Given the description of an element on the screen output the (x, y) to click on. 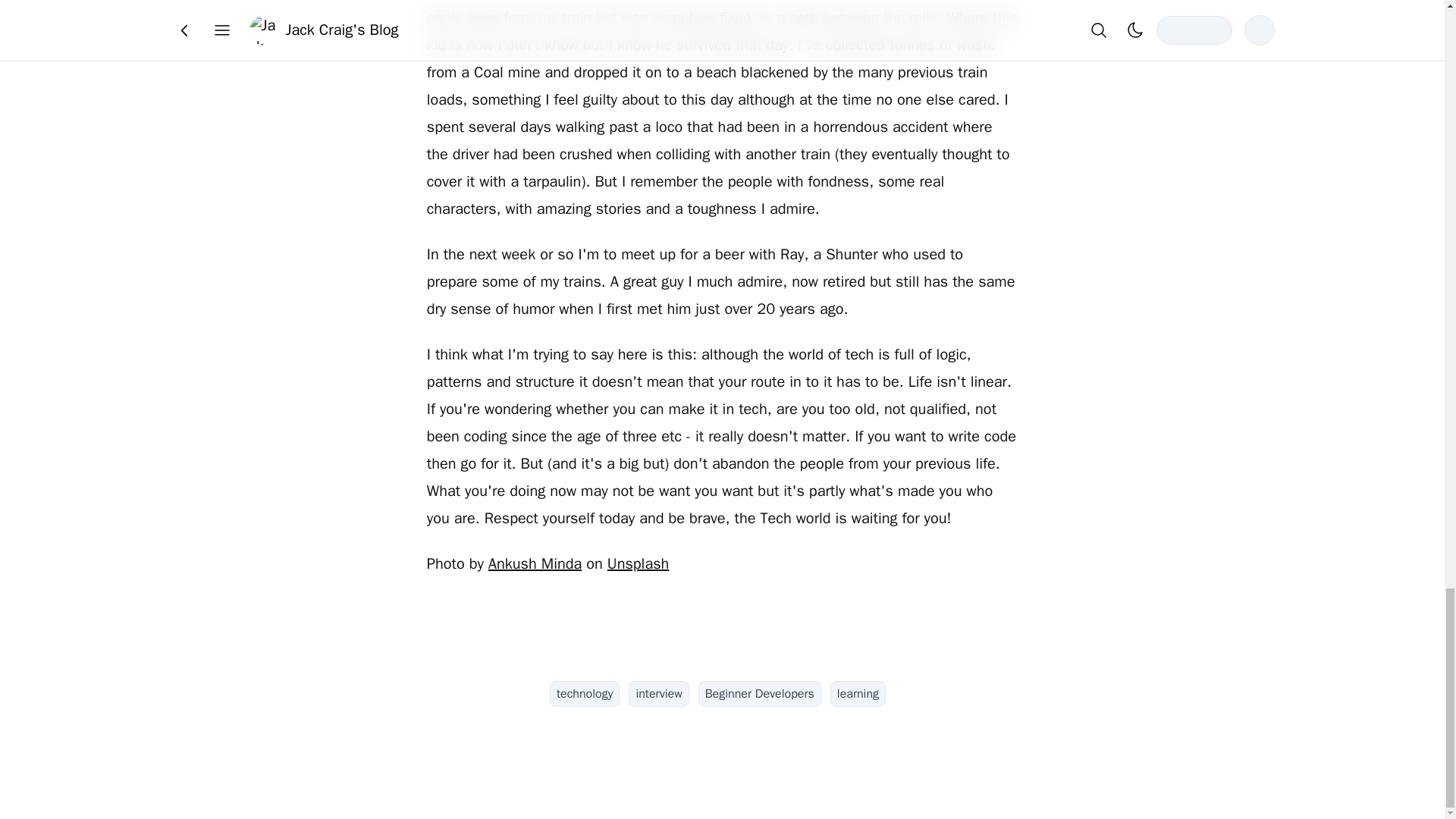
Beginner Developers (759, 693)
Ankush Minda (533, 563)
learning (857, 693)
technology (585, 693)
interview (658, 693)
Unsplash (637, 563)
